Given the description of an element on the screen output the (x, y) to click on. 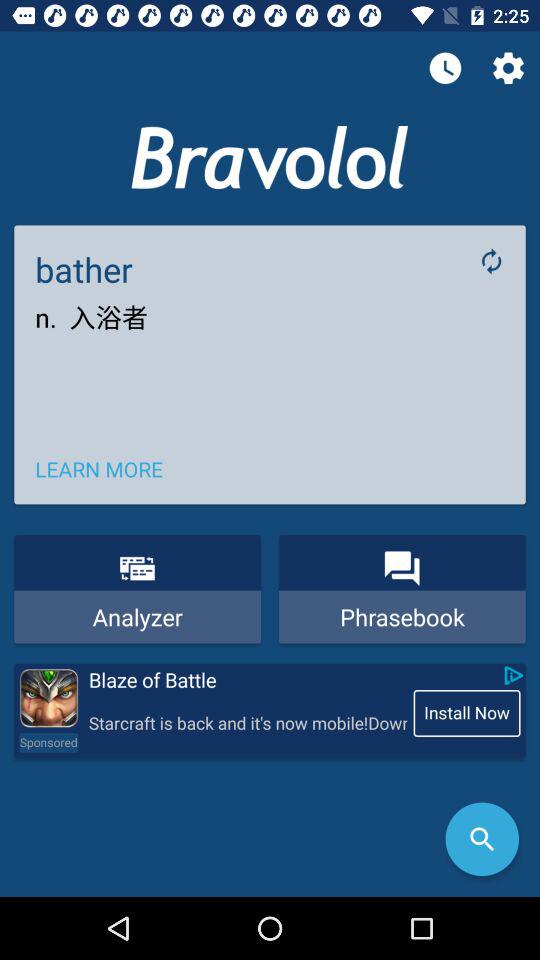
tap the icon to the left of the starcraft is back (48, 742)
